Given the description of an element on the screen output the (x, y) to click on. 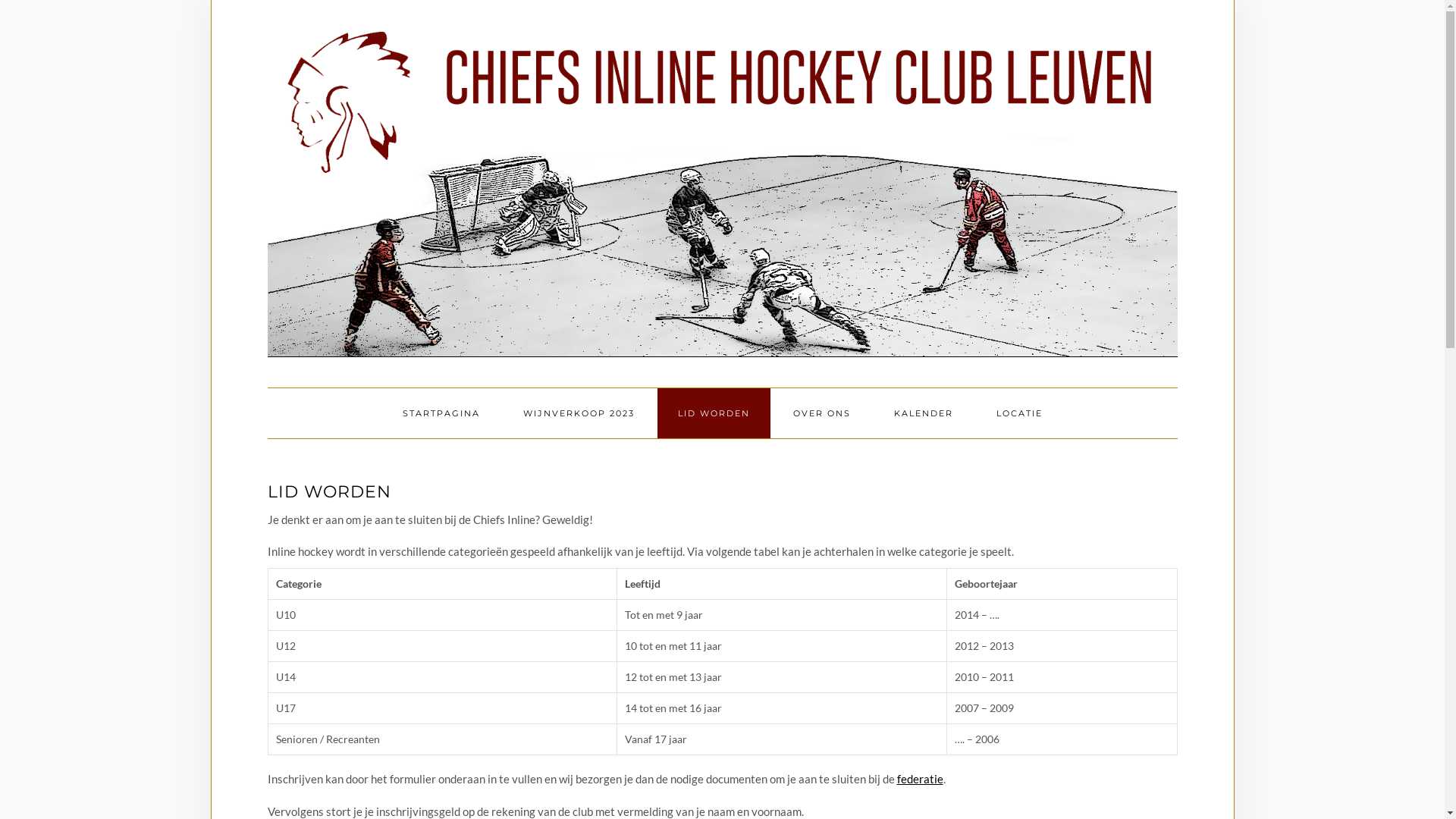
KALENDER Element type: text (923, 413)
LOCATIE Element type: text (1018, 413)
LID WORDEN Element type: text (712, 413)
OVER ONS Element type: text (820, 413)
STARTPAGINA Element type: text (441, 413)
WIJNVERKOOP 2023 Element type: text (578, 413)
federatie Element type: text (919, 778)
